Given the description of an element on the screen output the (x, y) to click on. 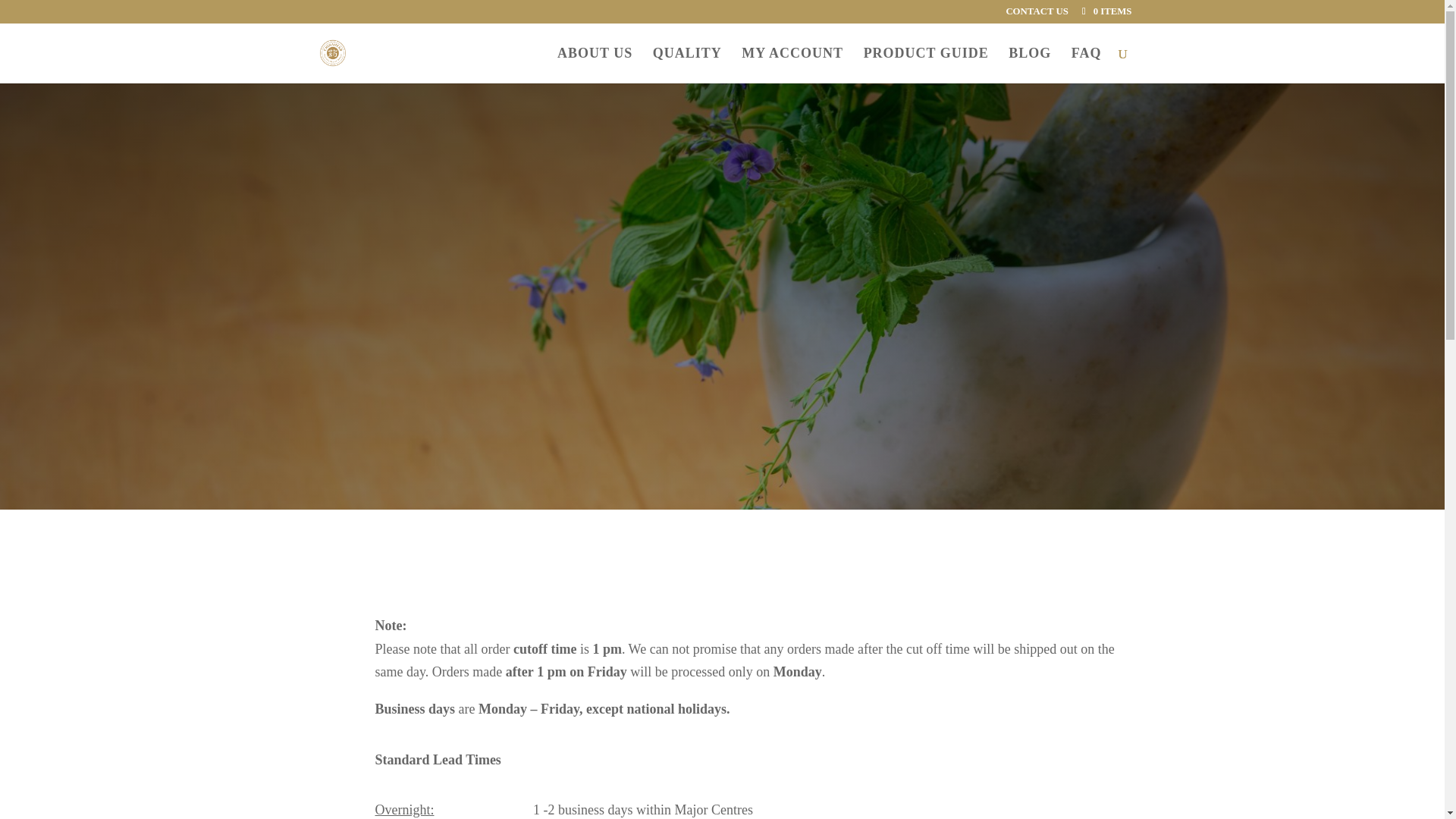
CONTACT US (1036, 14)
QUALITY (687, 65)
MY ACCOUNT (792, 65)
PRODUCT GUIDE (925, 65)
ABOUT US (594, 65)
0 ITEMS (1106, 10)
BLOG (1030, 65)
